Given the description of an element on the screen output the (x, y) to click on. 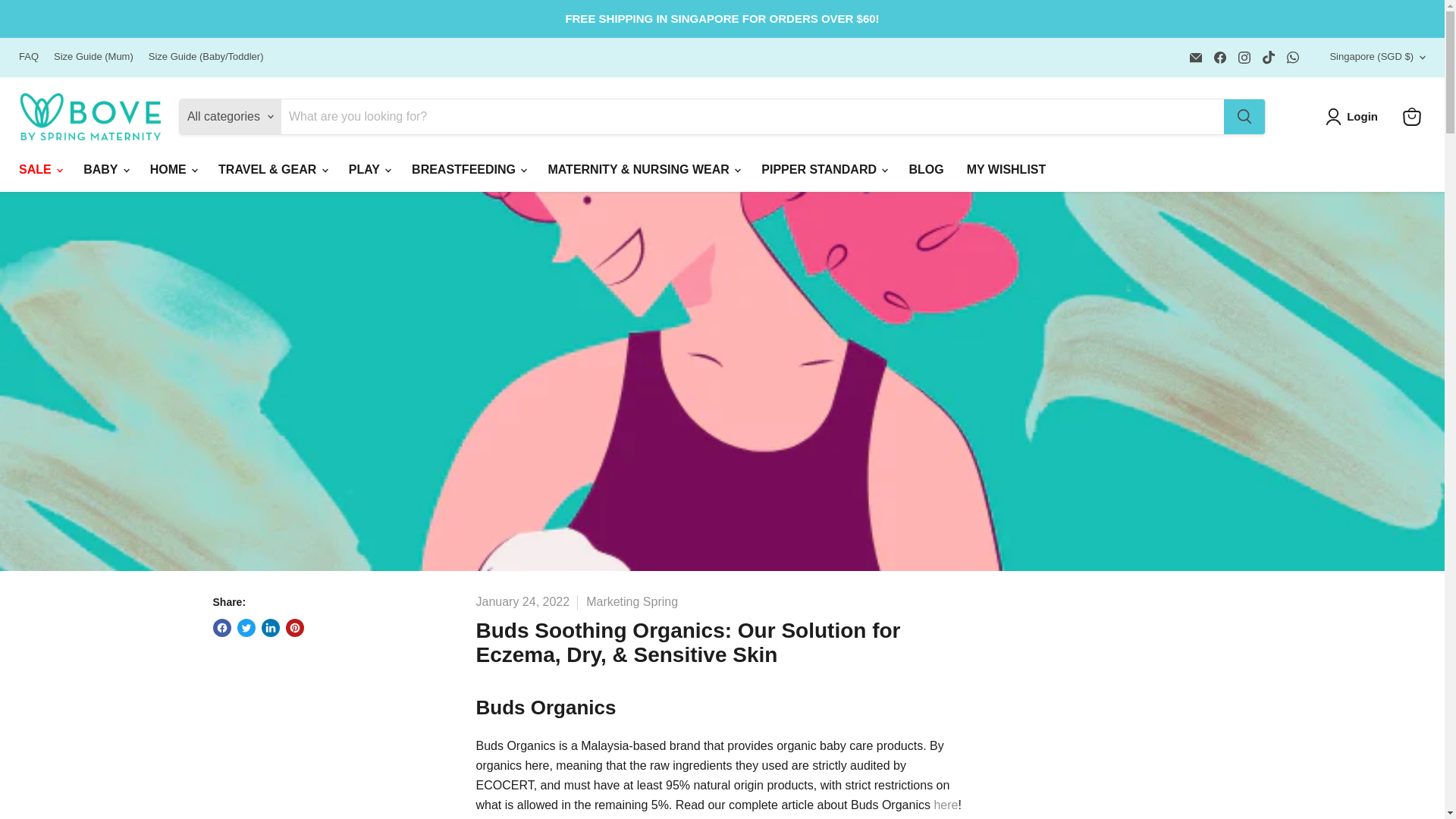
Facebook (1219, 56)
FAQ (28, 57)
Instagram (1244, 56)
Find us on Facebook (1219, 56)
WhatsApp (1292, 56)
Find us on Instagram (1244, 56)
Find us on TikTok (1268, 56)
Find us on WhatsApp (1292, 56)
Email (1196, 56)
Email Bove (1196, 56)
TikTok (1268, 56)
